Given the description of an element on the screen output the (x, y) to click on. 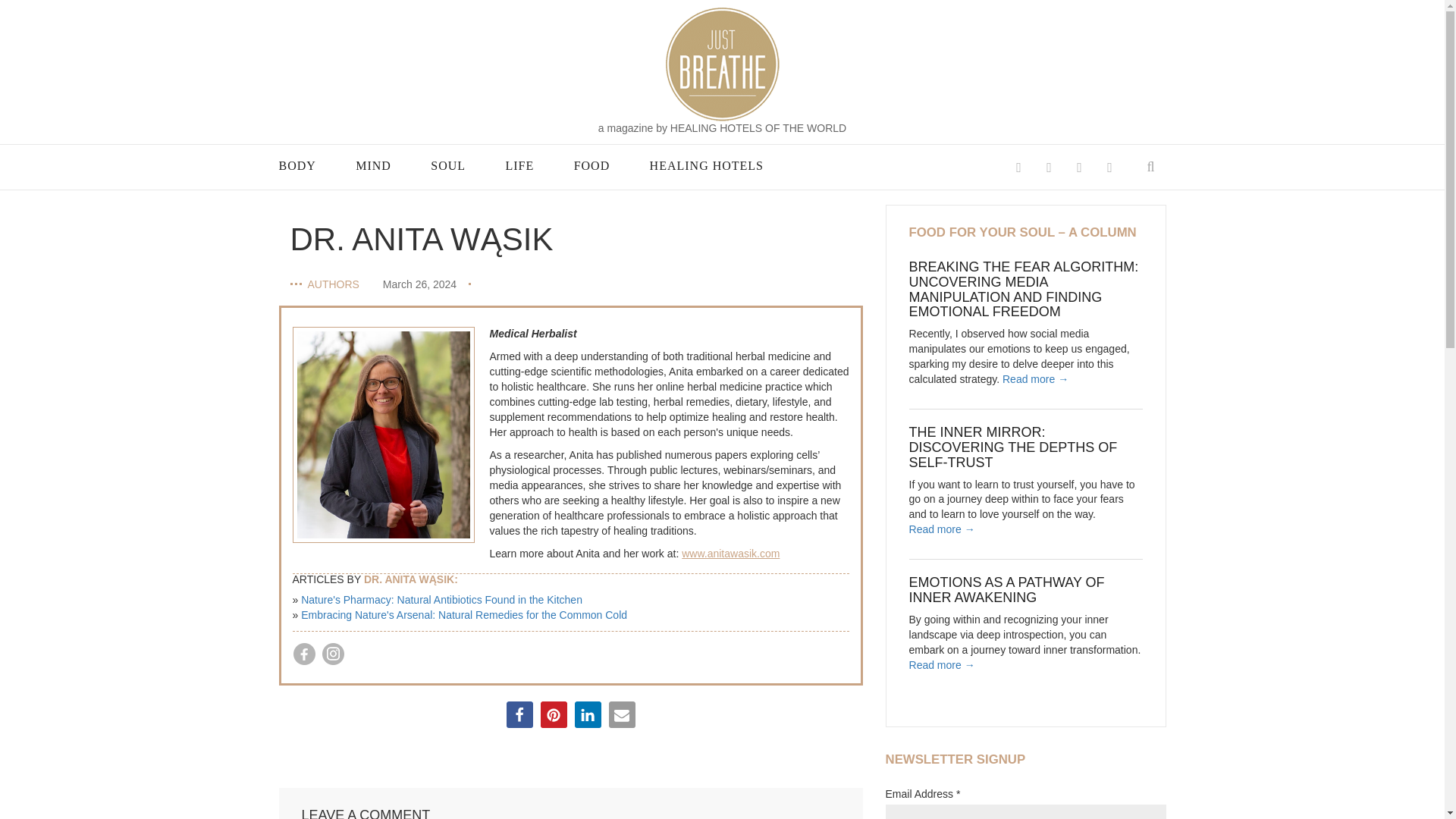
SOUL (447, 166)
Pin it on Pinterest (553, 714)
Share on LinkedIn (588, 714)
FOOD (591, 166)
Share on Facebook (519, 714)
a magazine by HEALING HOTELS OF THE WORLD (722, 128)
MIND (373, 166)
BODY (297, 166)
HEALING HOTELS (705, 166)
LIFE (519, 166)
Send by email (621, 714)
